Given the description of an element on the screen output the (x, y) to click on. 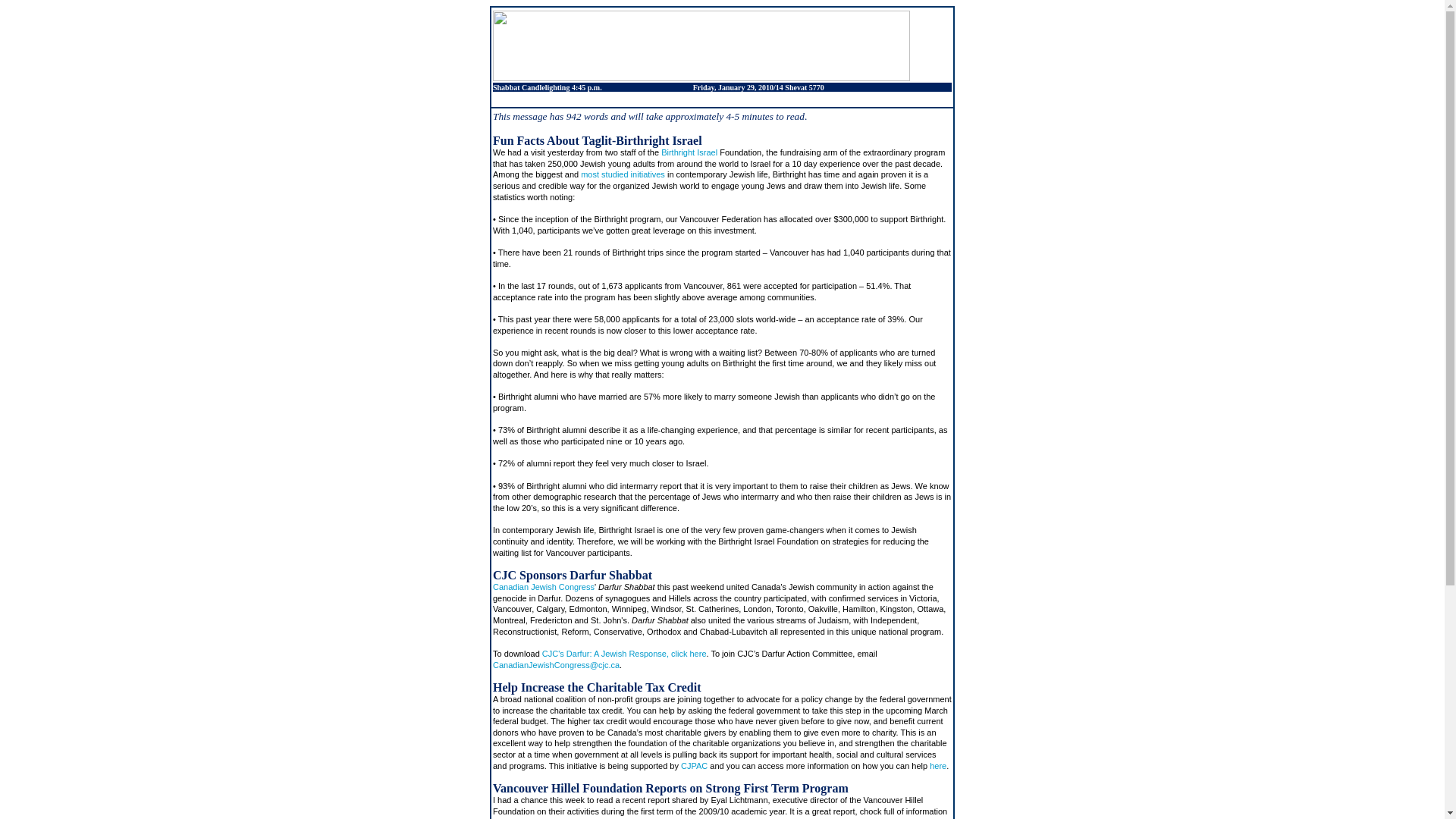
Canadian Jewish Congress (543, 586)
Birthright Israel (689, 152)
CJPAC (694, 765)
here (938, 765)
clicking here (790, 818)
CJC's Darfur: A Jewish Response, click here (623, 653)
most studied initiatives (622, 174)
